Given the description of an element on the screen output the (x, y) to click on. 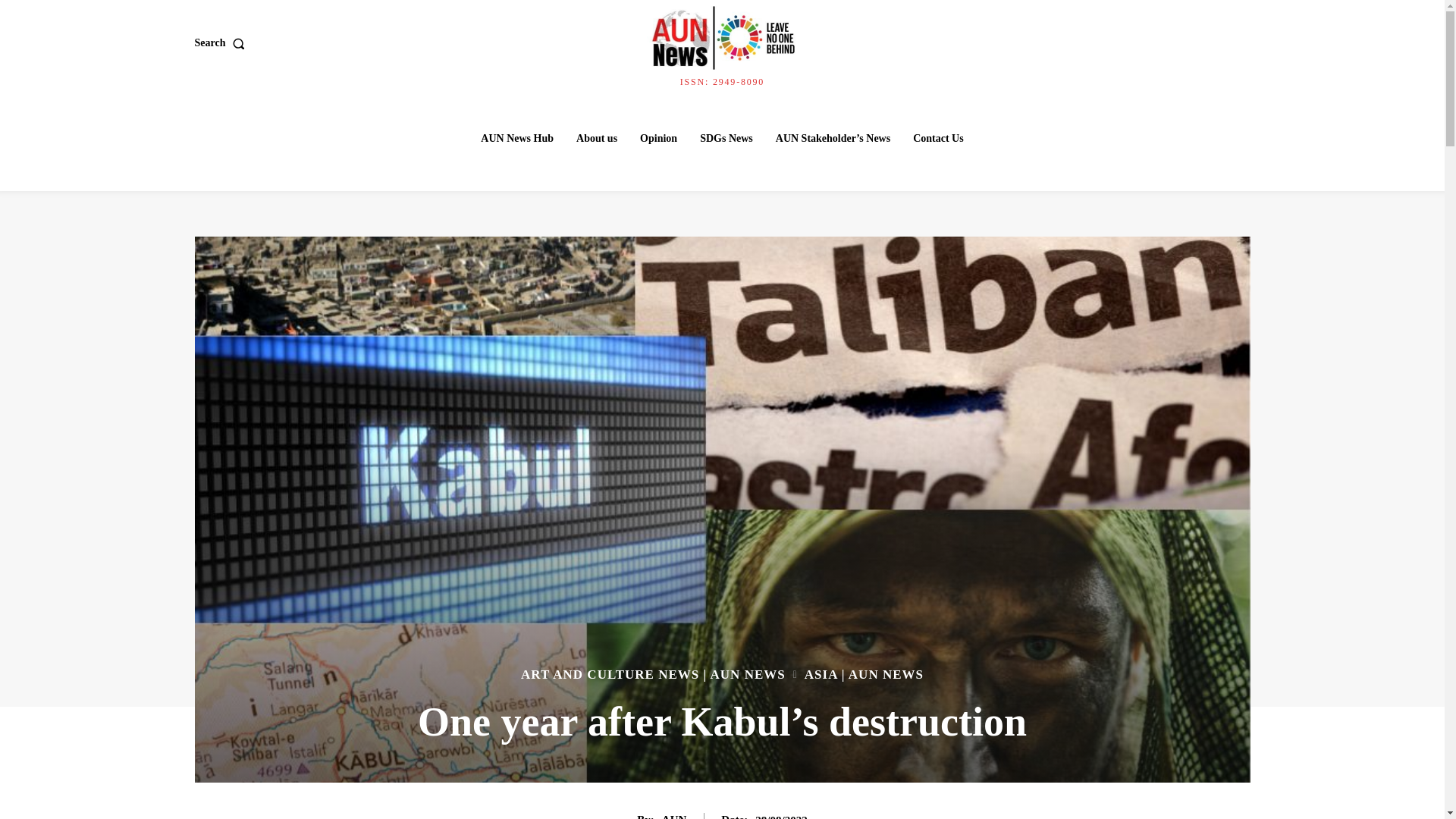
ISSN: 2949-8090 (721, 43)
Search (221, 42)
AUN News Hub (516, 138)
